Given the description of an element on the screen output the (x, y) to click on. 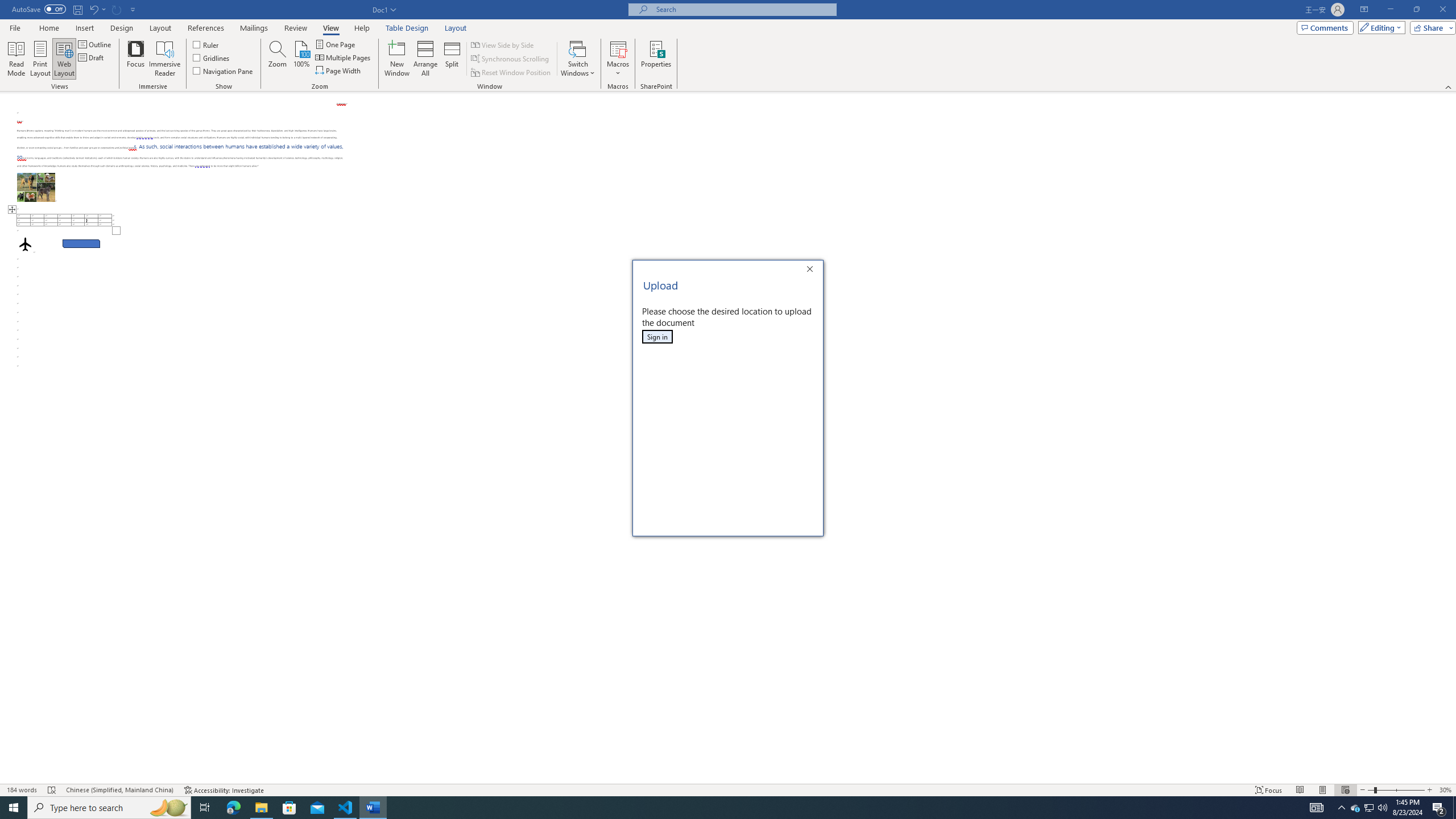
Immersive Reader (165, 58)
Action Center, 2 new notifications (1439, 807)
Zoom In (1430, 790)
Page Width (338, 69)
Running applications (717, 807)
New Window (396, 58)
Notification Chevron (1341, 807)
Save (77, 9)
Visual Studio Code - 1 running window (345, 807)
Spelling and Grammar Check Errors (52, 790)
Type here to search (108, 807)
Design (122, 28)
Ribbon Display Options (1364, 9)
Rectangle: Diagonal Corners Snipped 2 (81, 243)
